Given the description of an element on the screen output the (x, y) to click on. 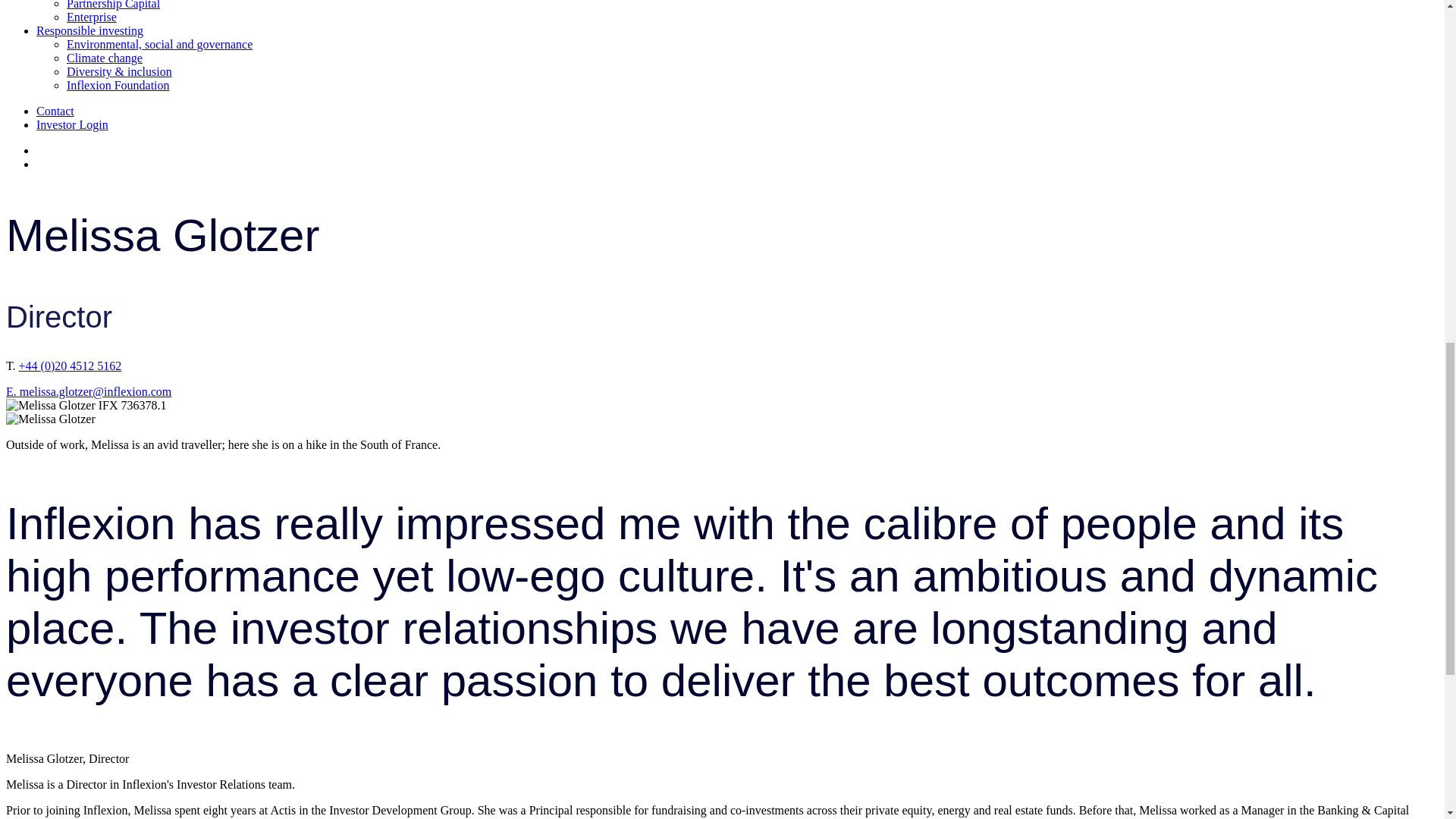
Enterprise (91, 16)
Partnership Capital (113, 4)
